Given the description of an element on the screen output the (x, y) to click on. 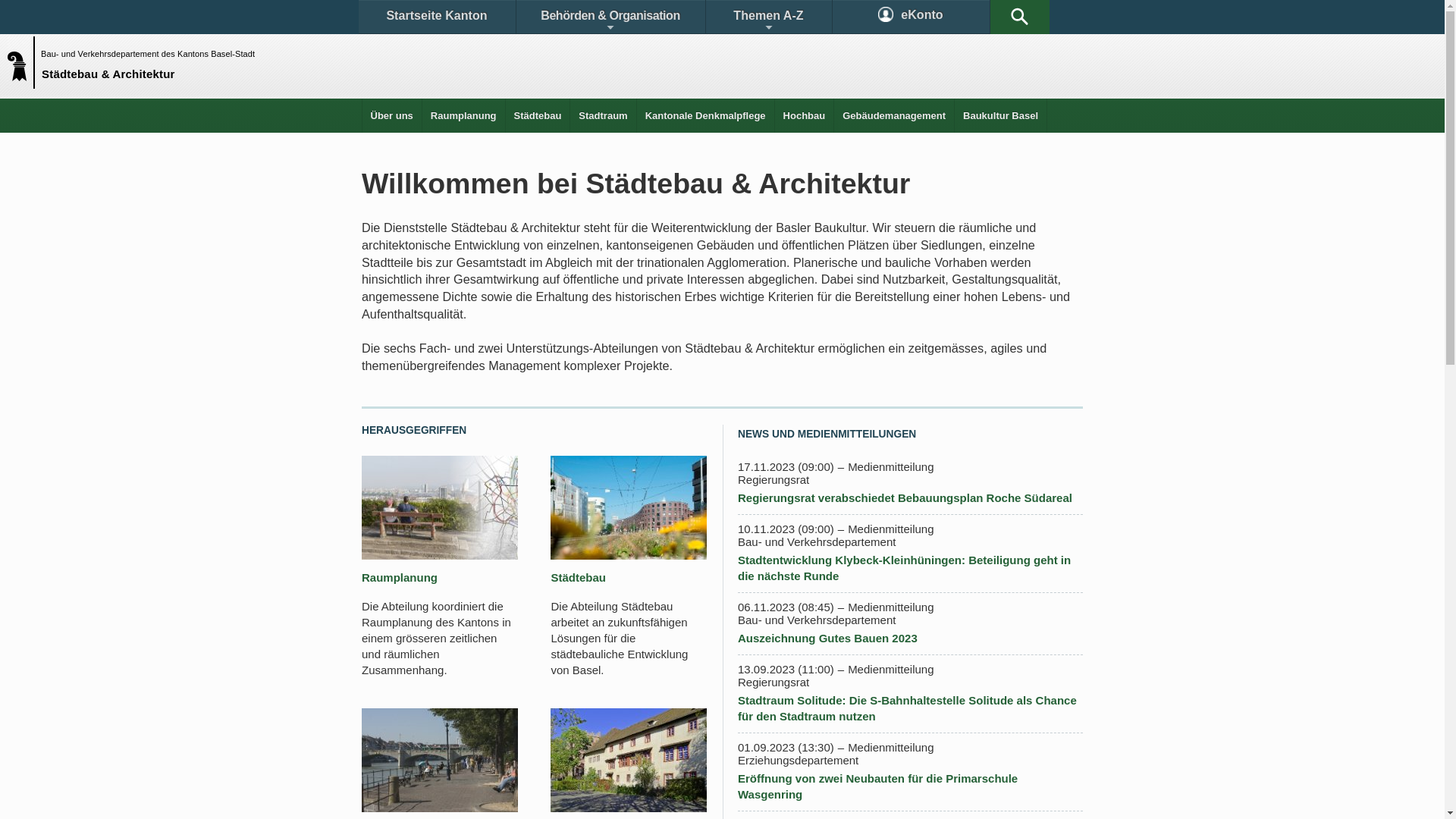
Kantonale Denkmalpflege Element type: text (705, 115)
Themen A-Z Element type: text (768, 17)
Stadtraum Element type: text (602, 115)
Raumplanung Element type: text (463, 115)
Auszeichnung Gutes Bauen 2023 Element type: text (827, 637)
Baukultur Basel Element type: text (1000, 115)
eKonto Element type: text (910, 17)
Hochbau Element type: text (804, 115)
Raumplanung Element type: text (399, 577)
Startseite Kanton Element type: text (435, 17)
